Given the description of an element on the screen output the (x, y) to click on. 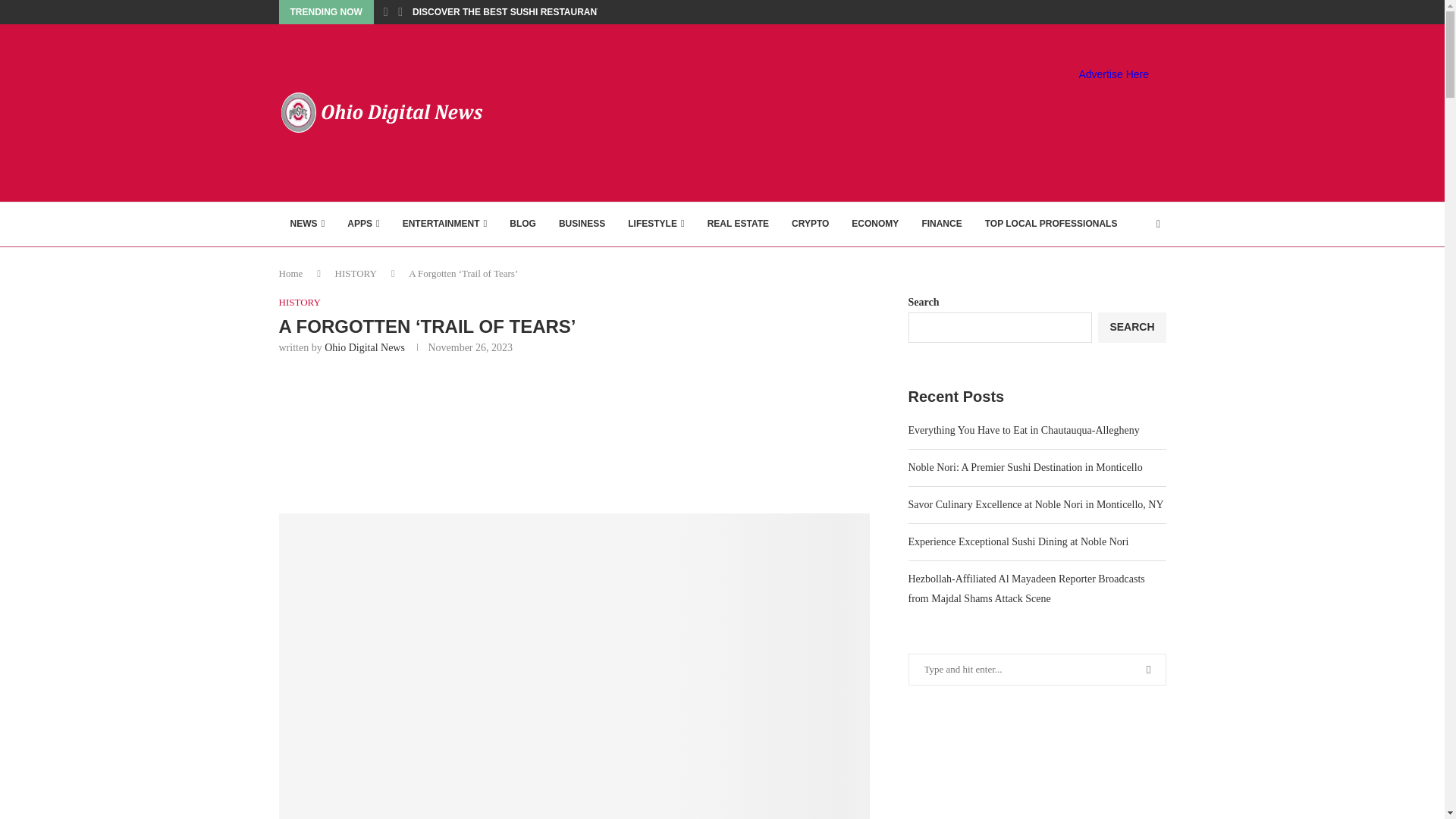
NEWS (307, 224)
LIFESTYLE (655, 224)
ENTERTAINMENT (445, 224)
BLOG (522, 224)
BUSINESS (581, 224)
APPS (363, 224)
DISCOVER THE BEST SUSHI RESTAURANT IN MONTICELLO, NY... (556, 12)
